Given the description of an element on the screen output the (x, y) to click on. 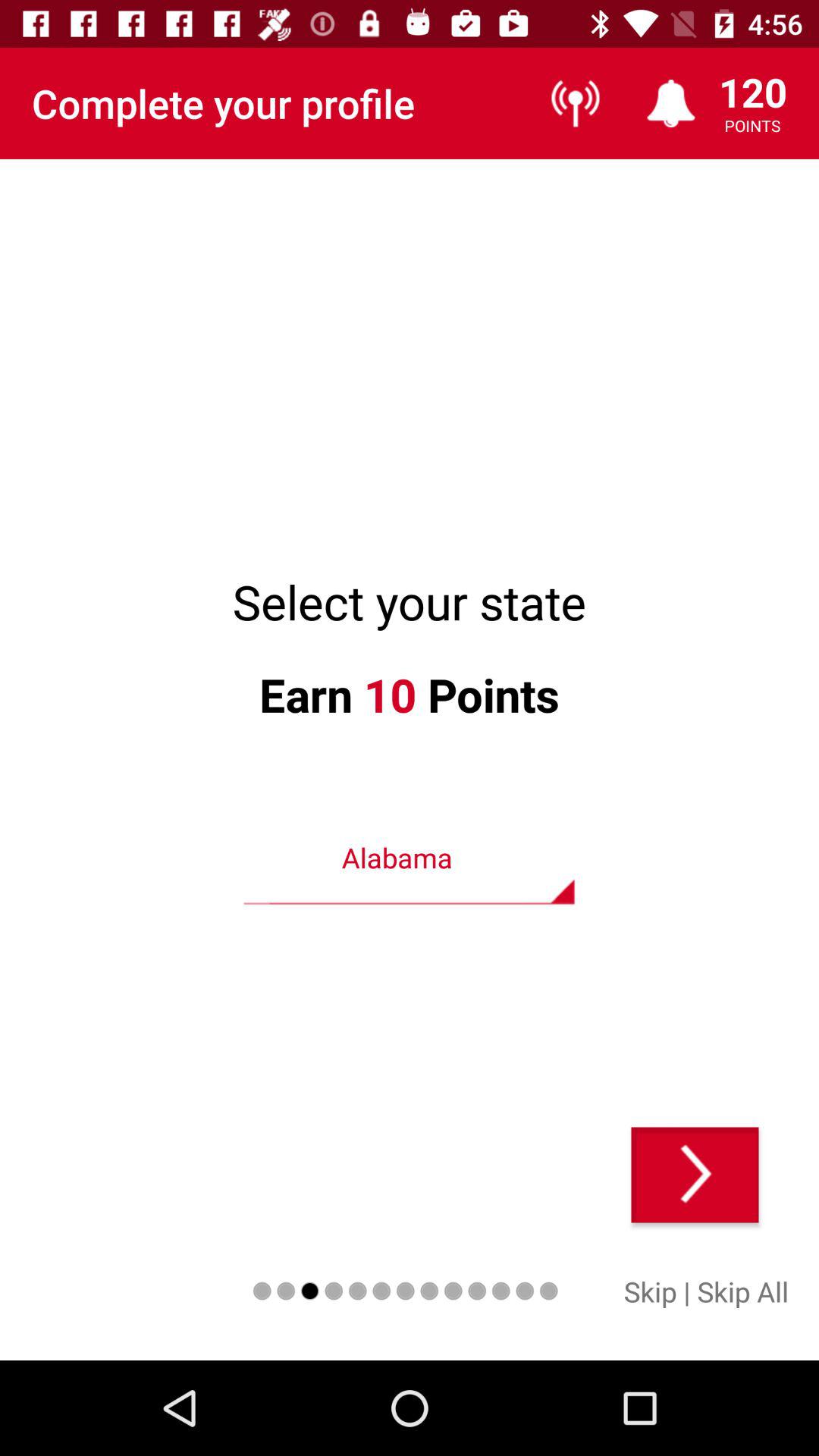
go to next (694, 1174)
